Given the description of an element on the screen output the (x, y) to click on. 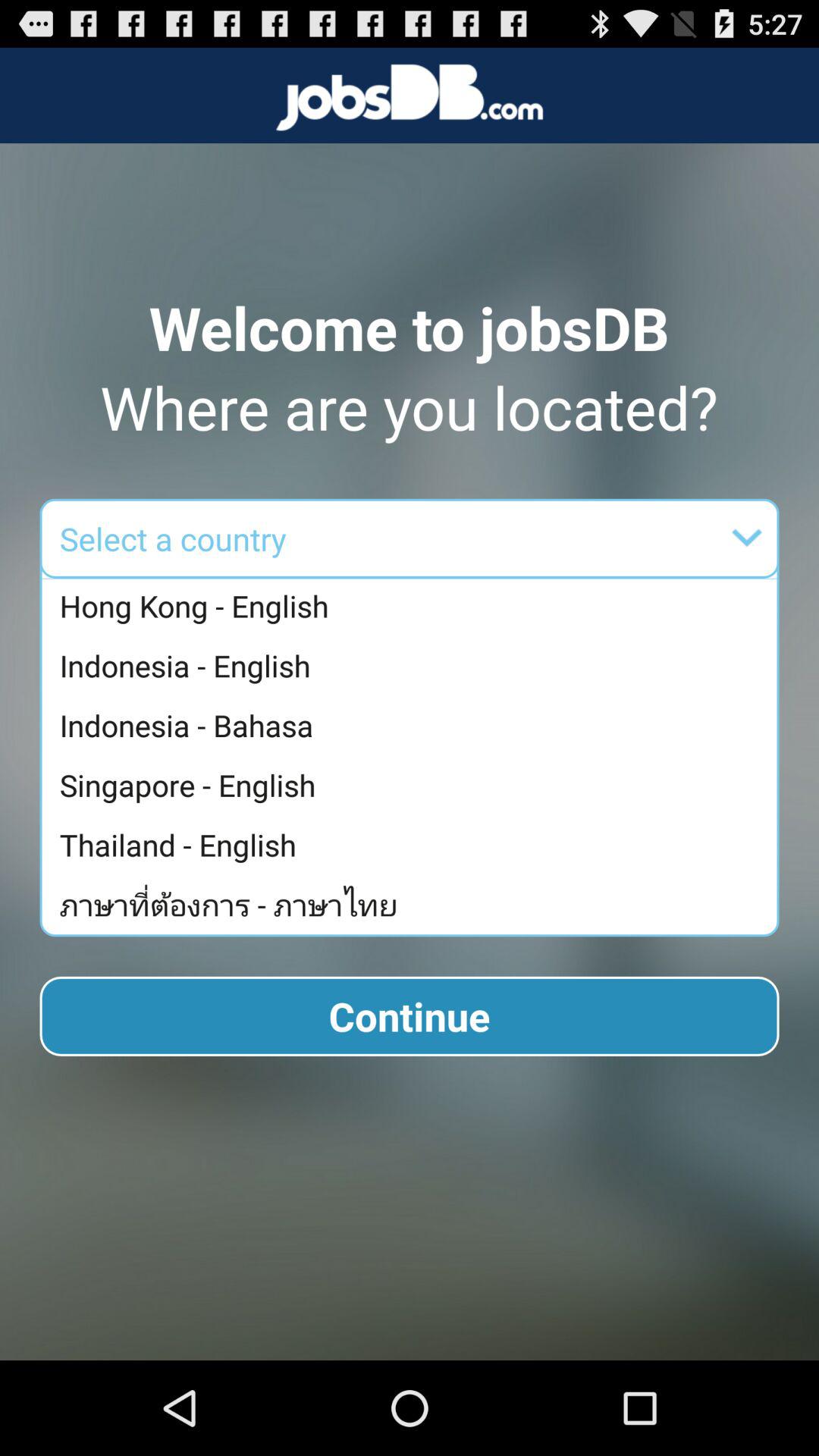
launch app below the thailand - english (413, 904)
